Given the description of an element on the screen output the (x, y) to click on. 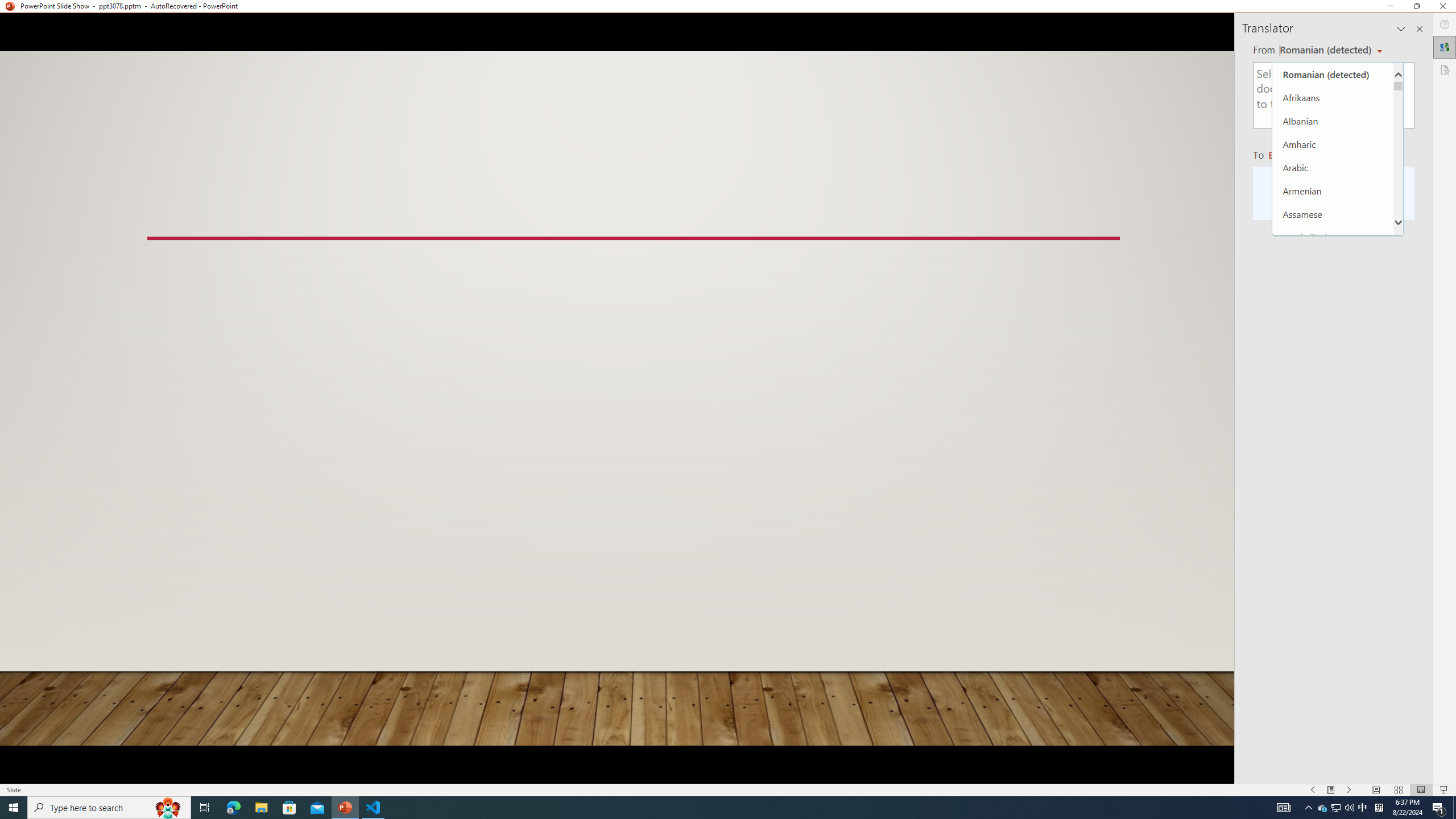
Bangla (1332, 260)
Dari (1332, 633)
Estonian (1332, 749)
Divehi (1332, 656)
Romanian (detected) (1332, 73)
English (1332, 725)
Chhattisgarhi (1332, 469)
Arabic (1332, 167)
Romanian (1293, 154)
Croatian (1332, 563)
Bulgarian (1332, 400)
Assamese (1332, 214)
Basque (1332, 307)
